Given the description of an element on the screen output the (x, y) to click on. 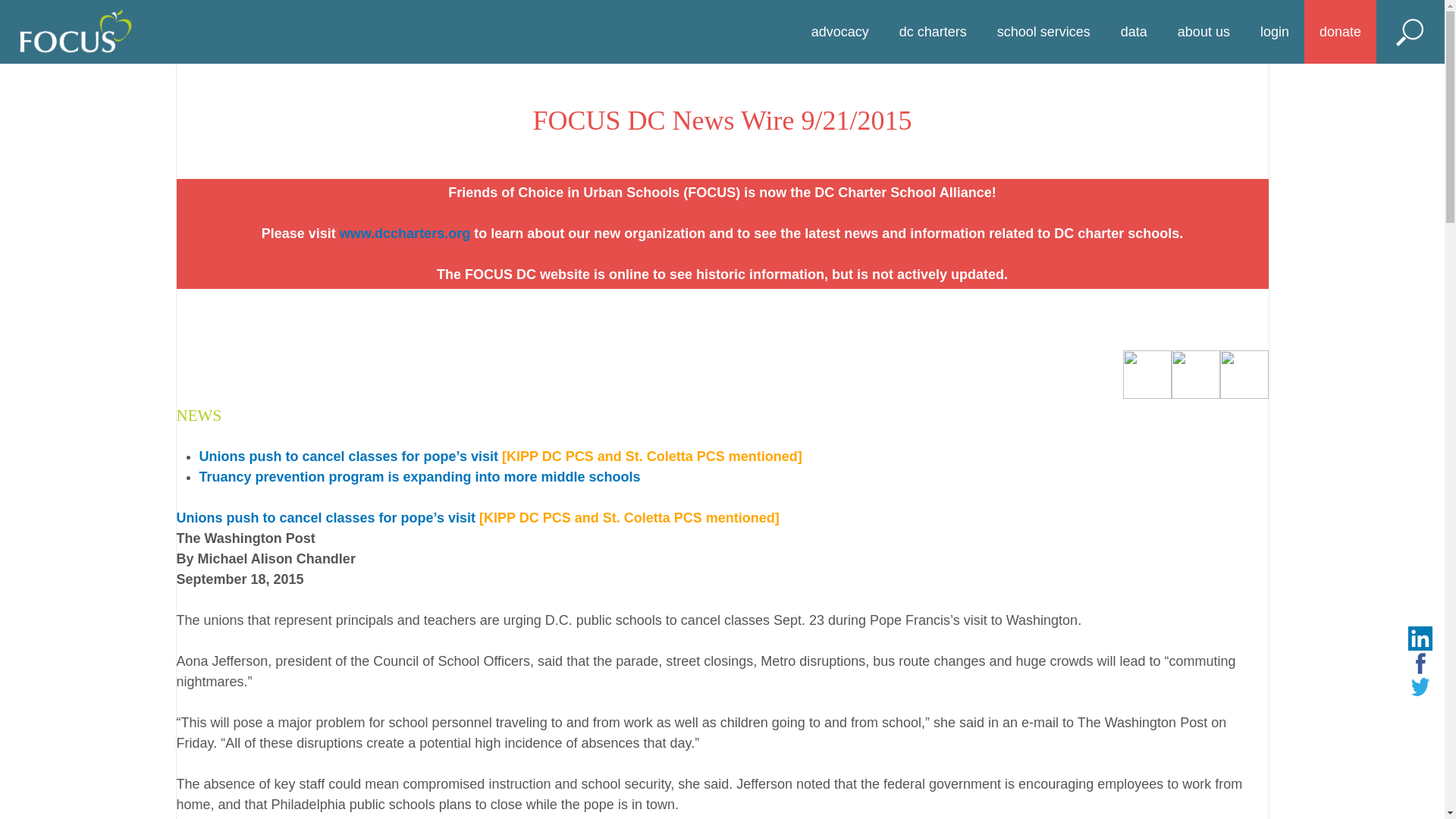
dc charters (932, 31)
advocacy (839, 31)
www.dccharters.org (404, 233)
donate (1339, 31)
school services (1043, 31)
